Given the description of an element on the screen output the (x, y) to click on. 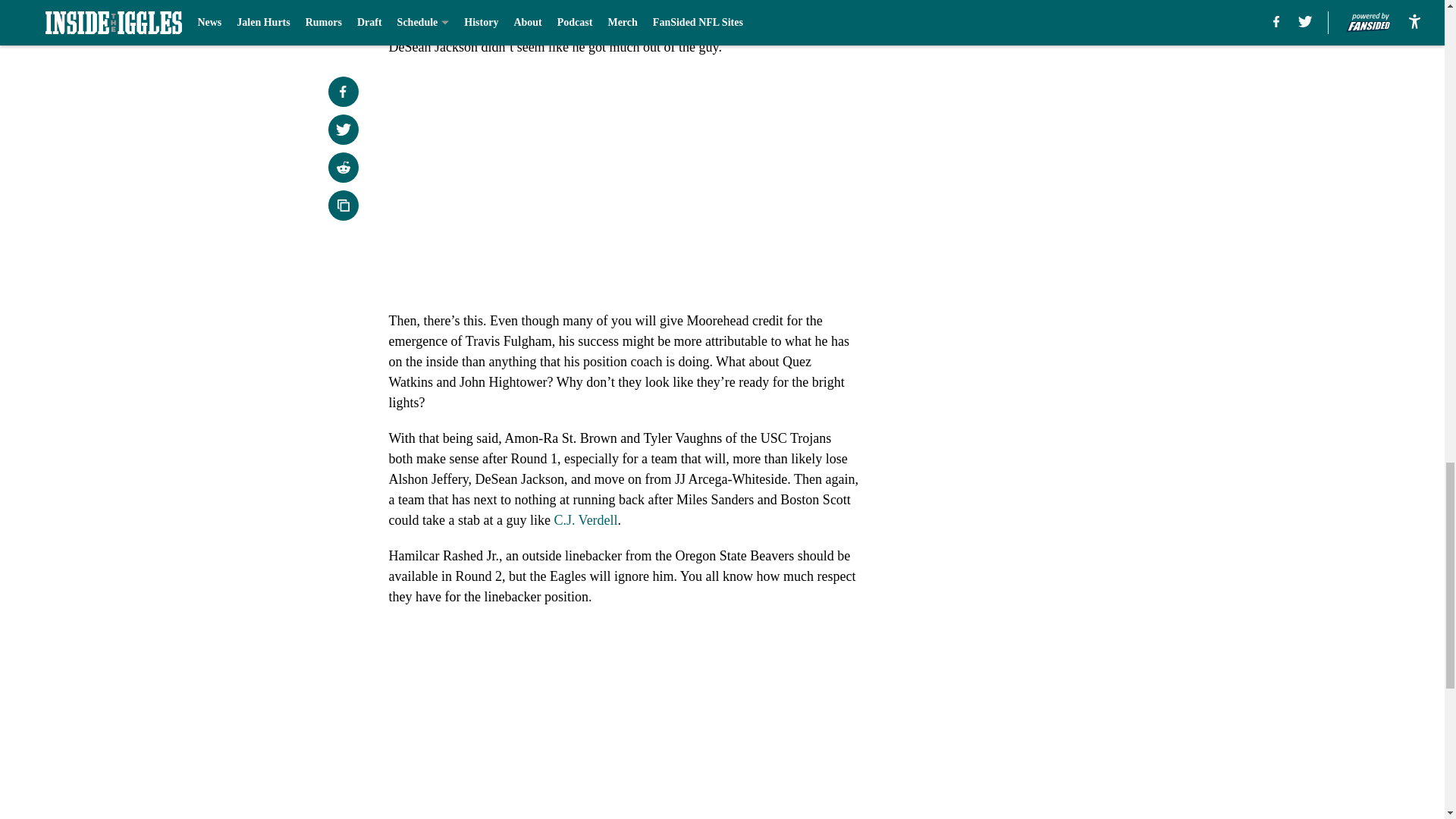
C.J. Verdell (585, 519)
